Given the description of an element on the screen output the (x, y) to click on. 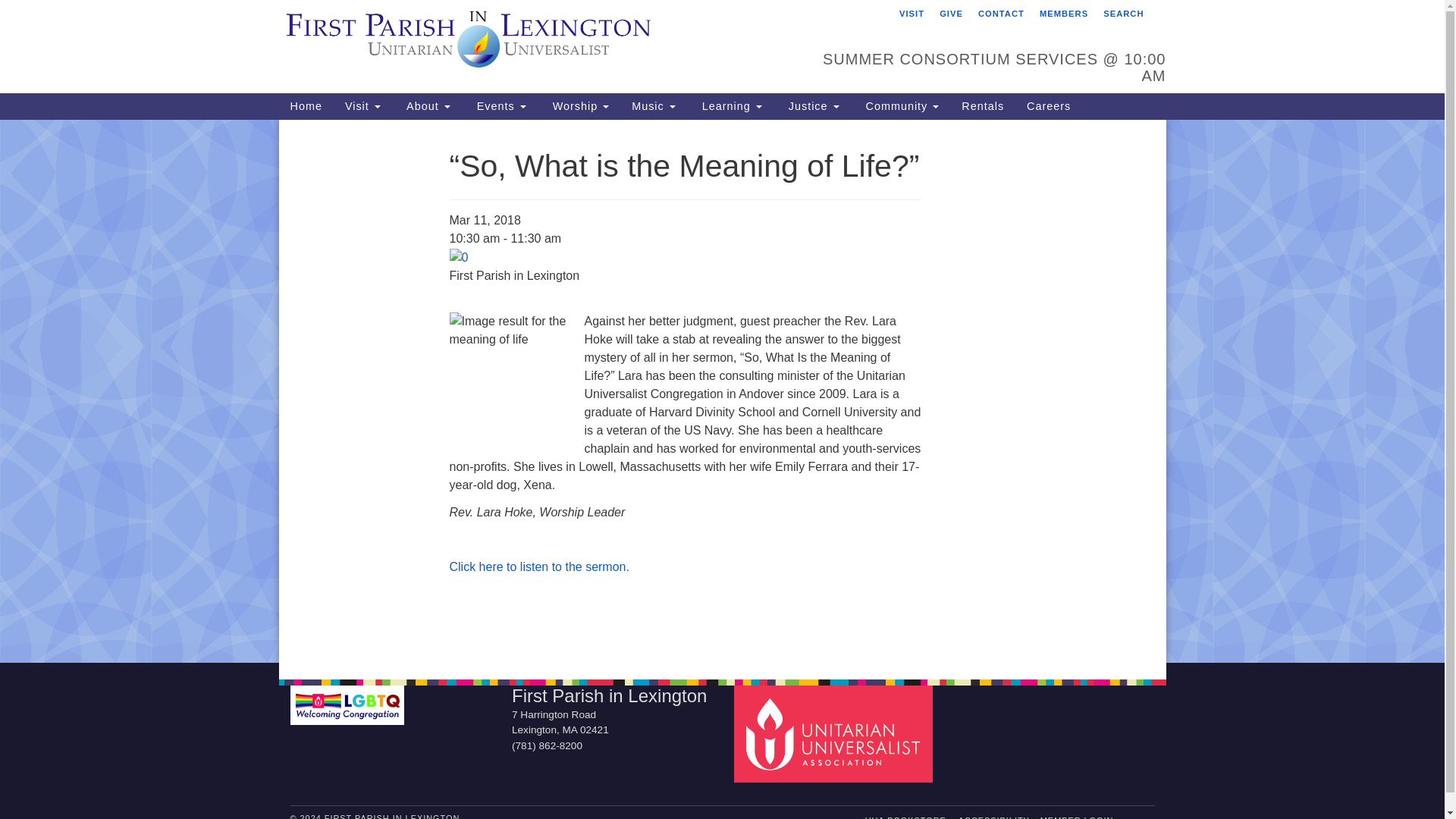
 Events (499, 106)
Home (306, 106)
VISIT (911, 13)
Visit (362, 106)
Visit (362, 106)
MEMBERS (1063, 13)
Home (306, 106)
 About (426, 106)
SEARCH (1122, 13)
About (426, 106)
CONTACT (1000, 13)
 Worship (579, 106)
GIVE (951, 13)
